Given the description of an element on the screen output the (x, y) to click on. 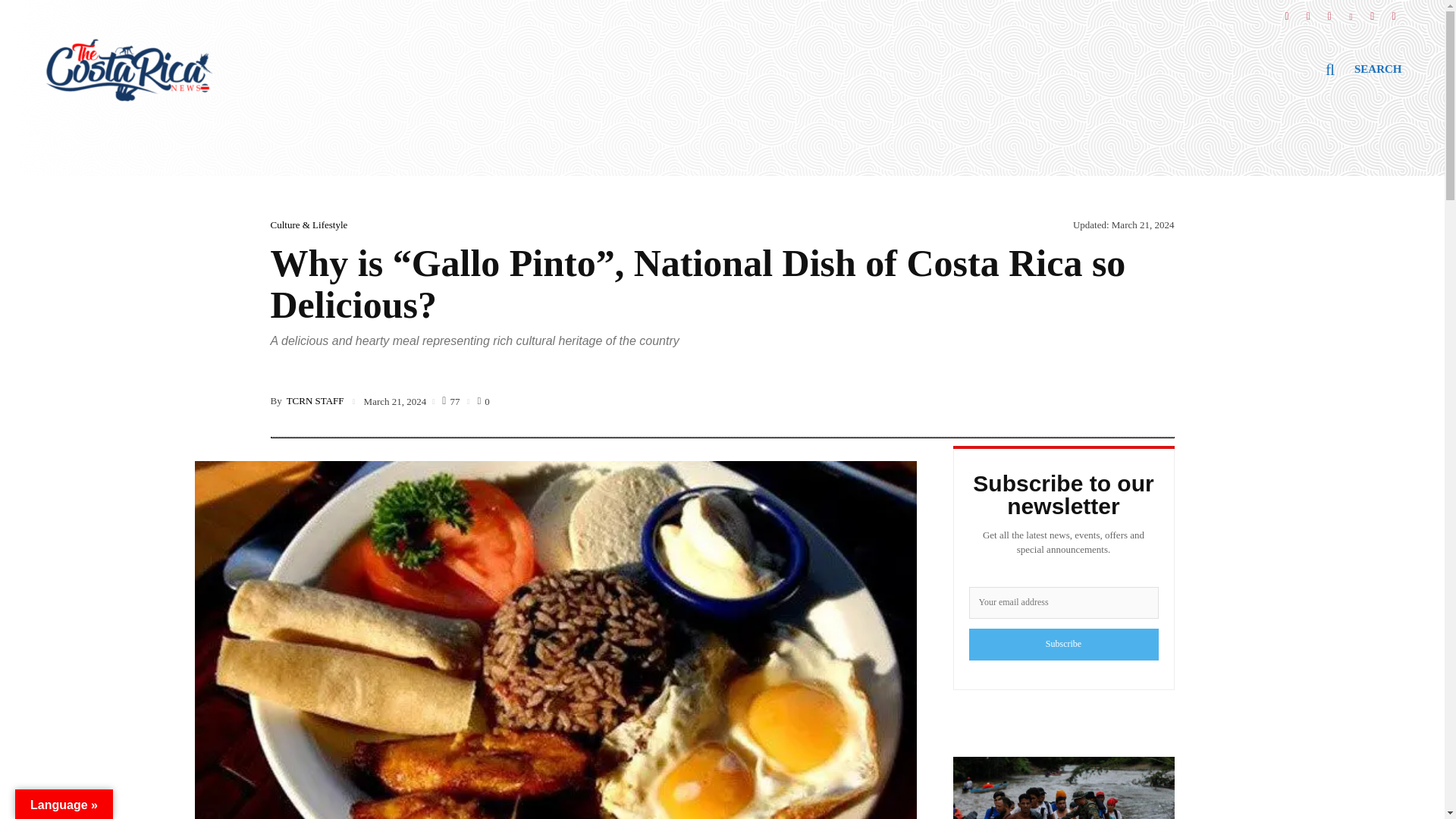
Facebook (1286, 11)
YouTube (1371, 11)
Paypal (1393, 11)
Twitter (1329, 11)
LinkedIn (1350, 11)
Instagram (1307, 11)
